Given the description of an element on the screen output the (x, y) to click on. 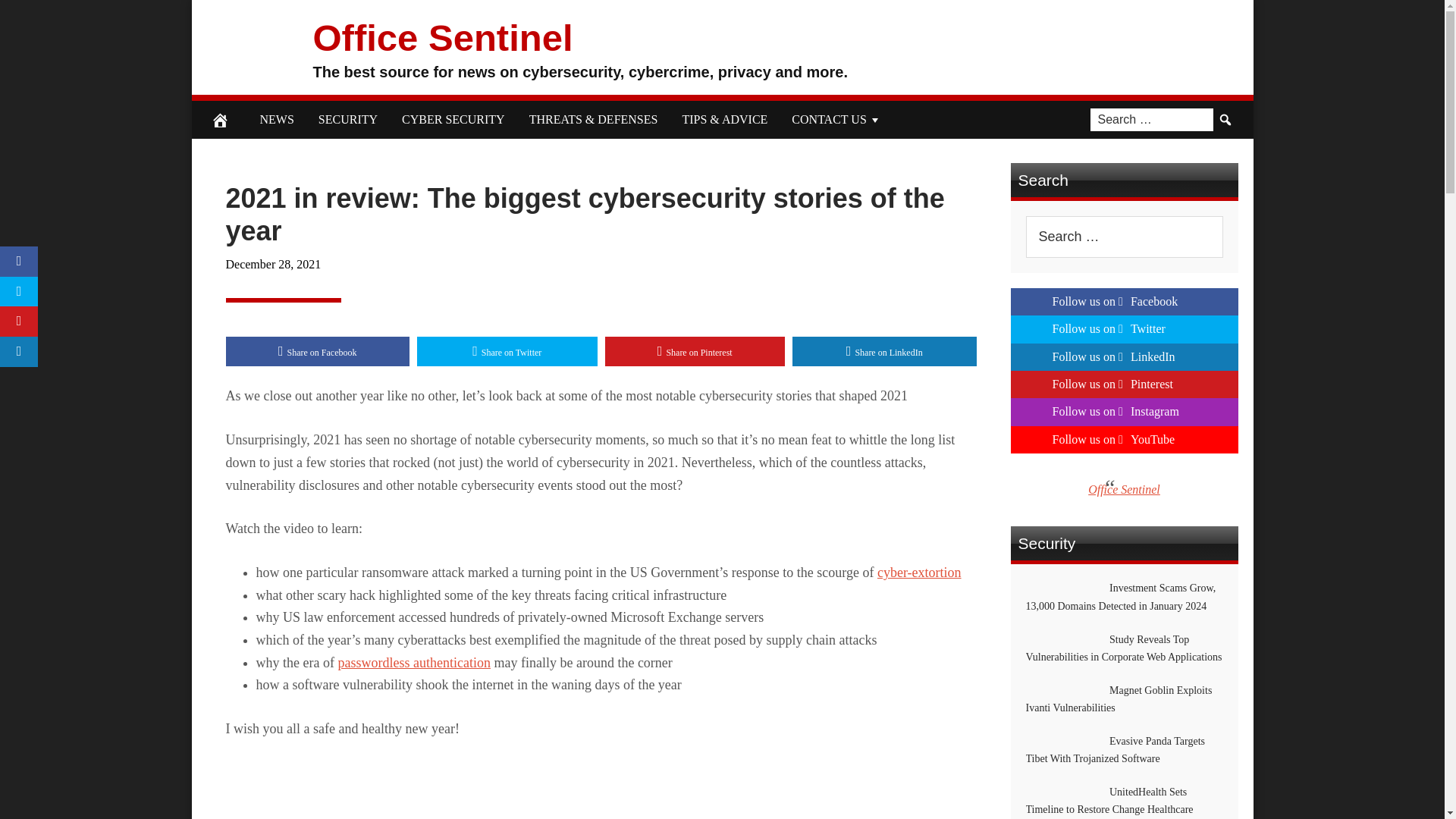
NEWS (276, 119)
Share on LinkedIn (884, 351)
Office Sentinel (442, 36)
CONTACT US (835, 119)
Share on Twitter (506, 351)
SECURITY (347, 119)
Share on Pinterest (695, 351)
CYBER SECURITY (453, 119)
